Given the description of an element on the screen output the (x, y) to click on. 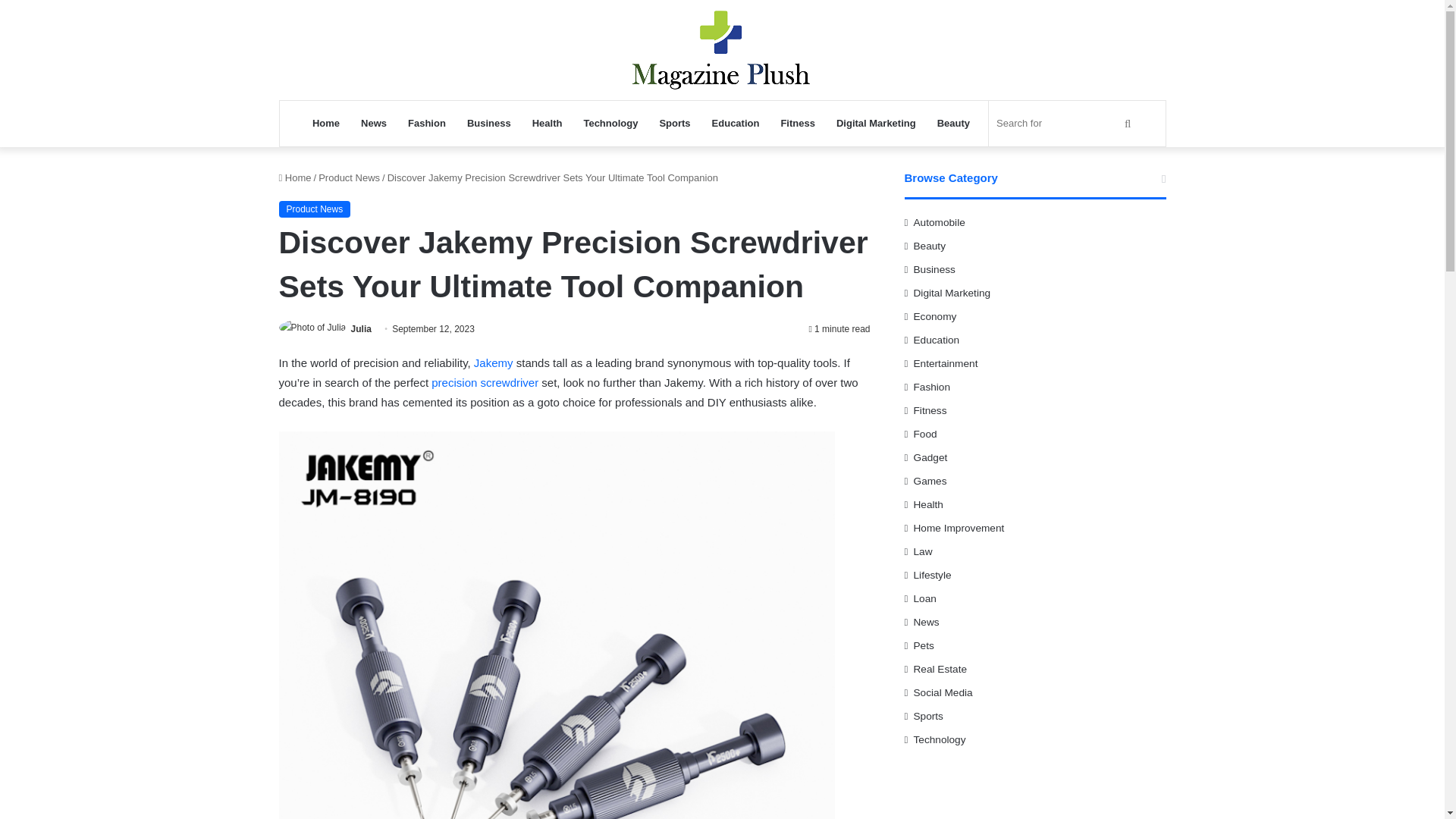
Digital Marketing (875, 123)
Fitness (797, 123)
My Blog (722, 49)
Product News (349, 177)
Jakemy (493, 362)
Beauty (952, 123)
Business (489, 123)
Sports (673, 123)
Product News (314, 208)
Home (295, 177)
